Given the description of an element on the screen output the (x, y) to click on. 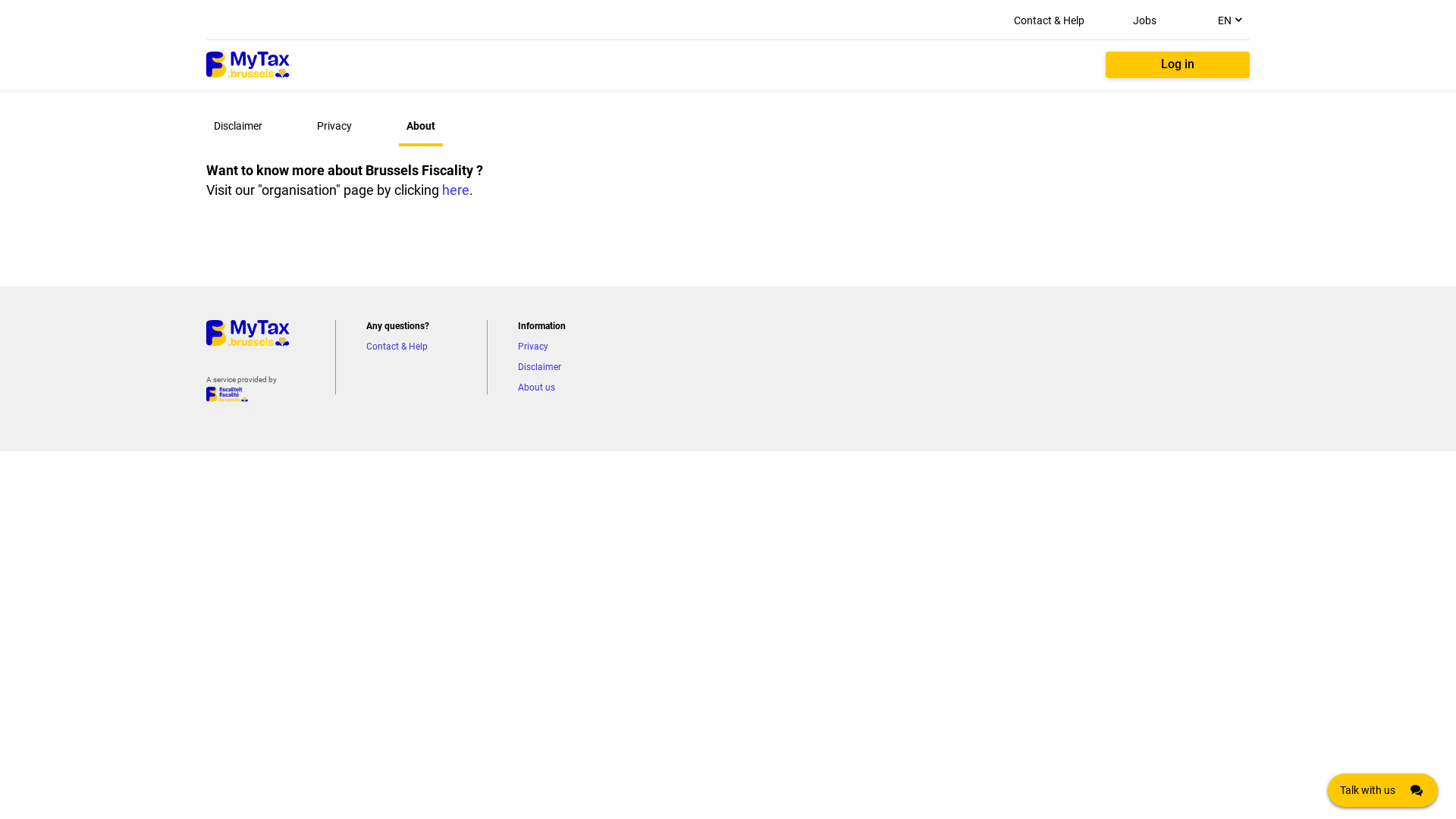
Disclaimer Element type: text (237, 125)
Jobs Element type: text (1144, 20)
EN Element type: text (1228, 19)
here Element type: text (455, 189)
About Element type: text (420, 127)
Talk with us Element type: text (1382, 789)
Privacy Element type: text (532, 346)
Log in Element type: text (1177, 64)
Contact & Help Element type: text (396, 346)
Disclaimer Element type: text (539, 366)
About us Element type: text (536, 387)
Contact & Help Element type: text (1048, 20)
Privacy Element type: text (334, 125)
